Given the description of an element on the screen output the (x, y) to click on. 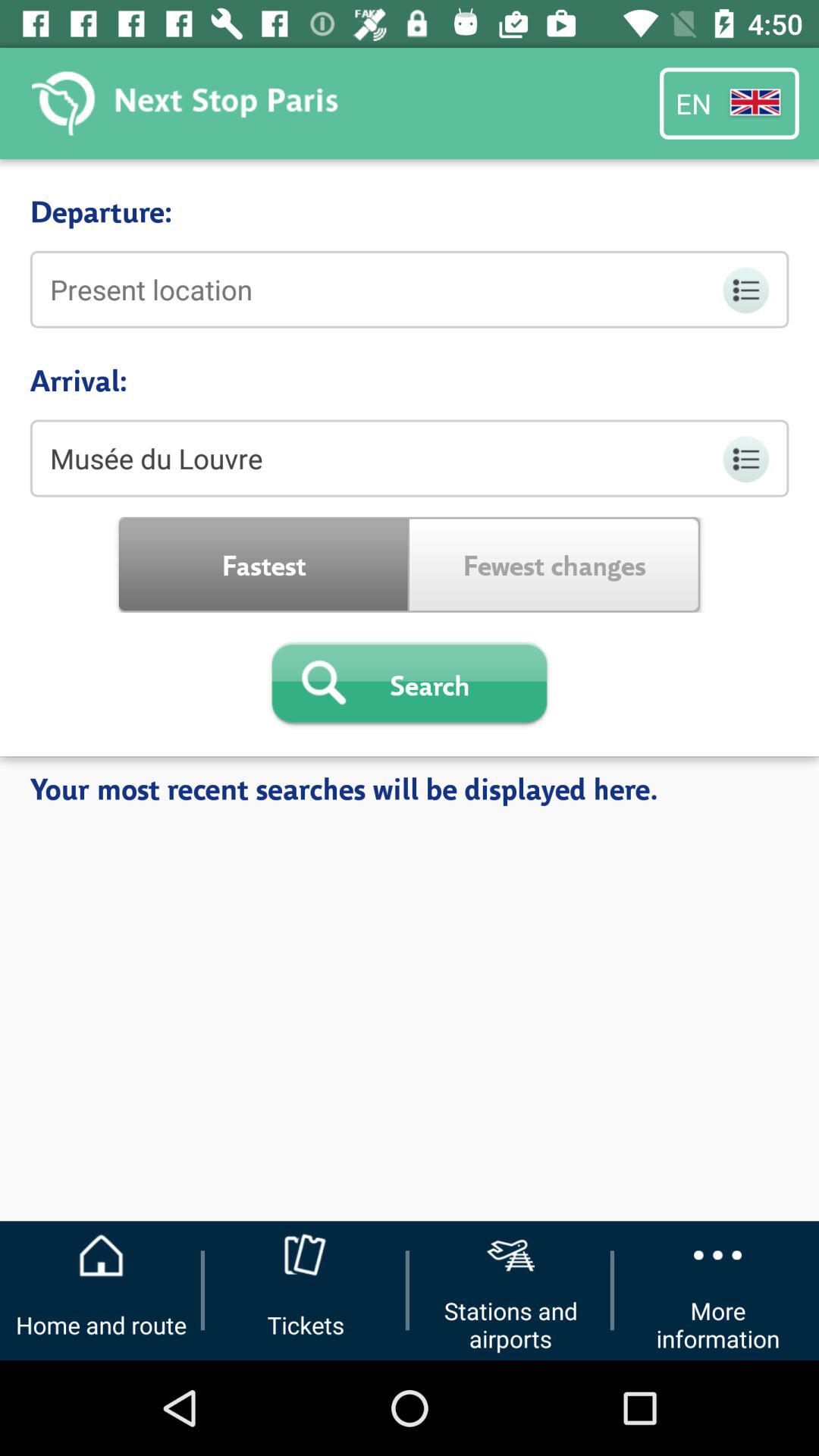
jump to fastest (263, 564)
